Given the description of an element on the screen output the (x, y) to click on. 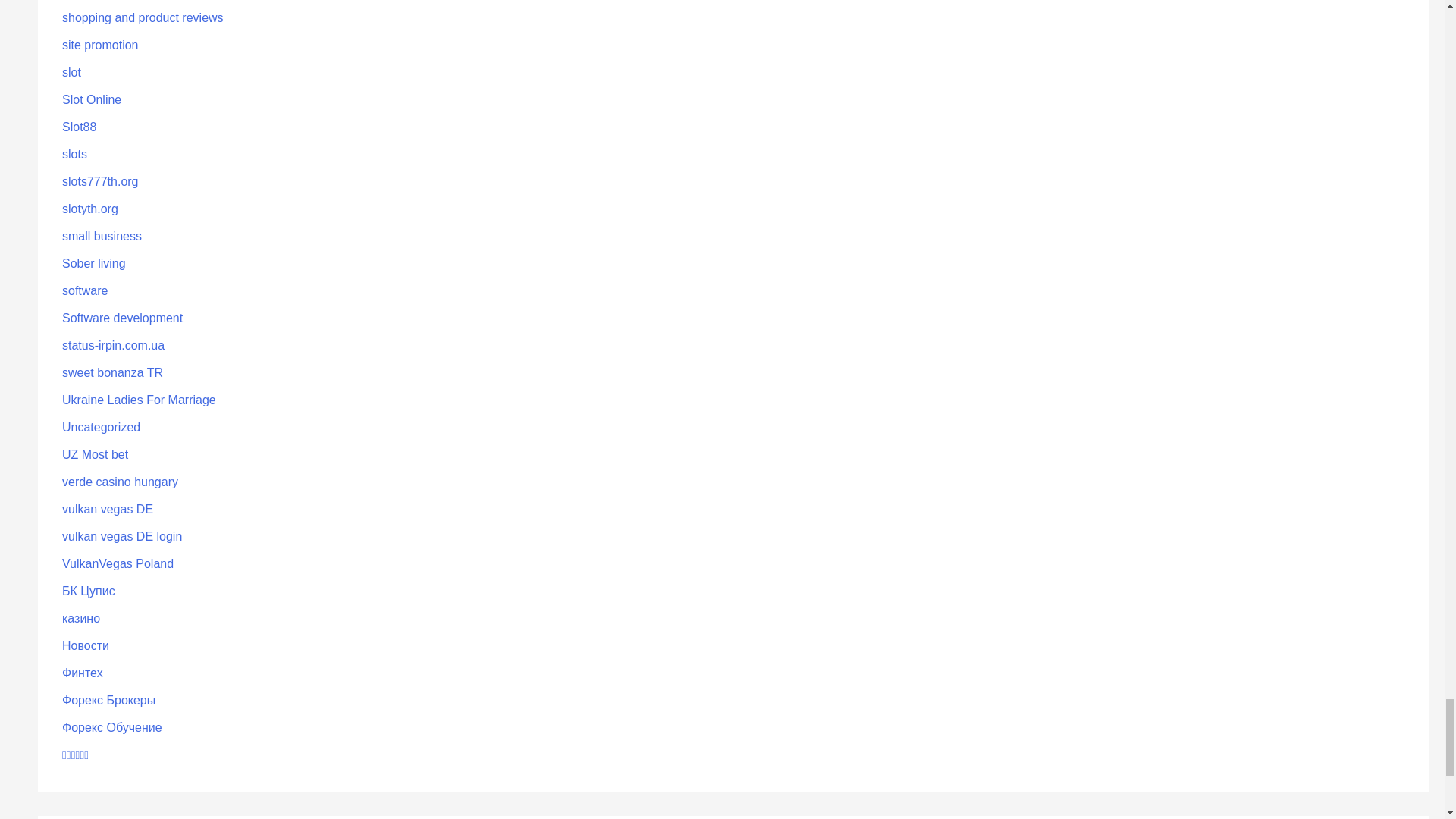
Slot Online (91, 99)
small business (101, 236)
shopping and product reviews (143, 17)
site promotion (100, 44)
Slot88 (79, 126)
software (84, 290)
